Given the description of an element on the screen output the (x, y) to click on. 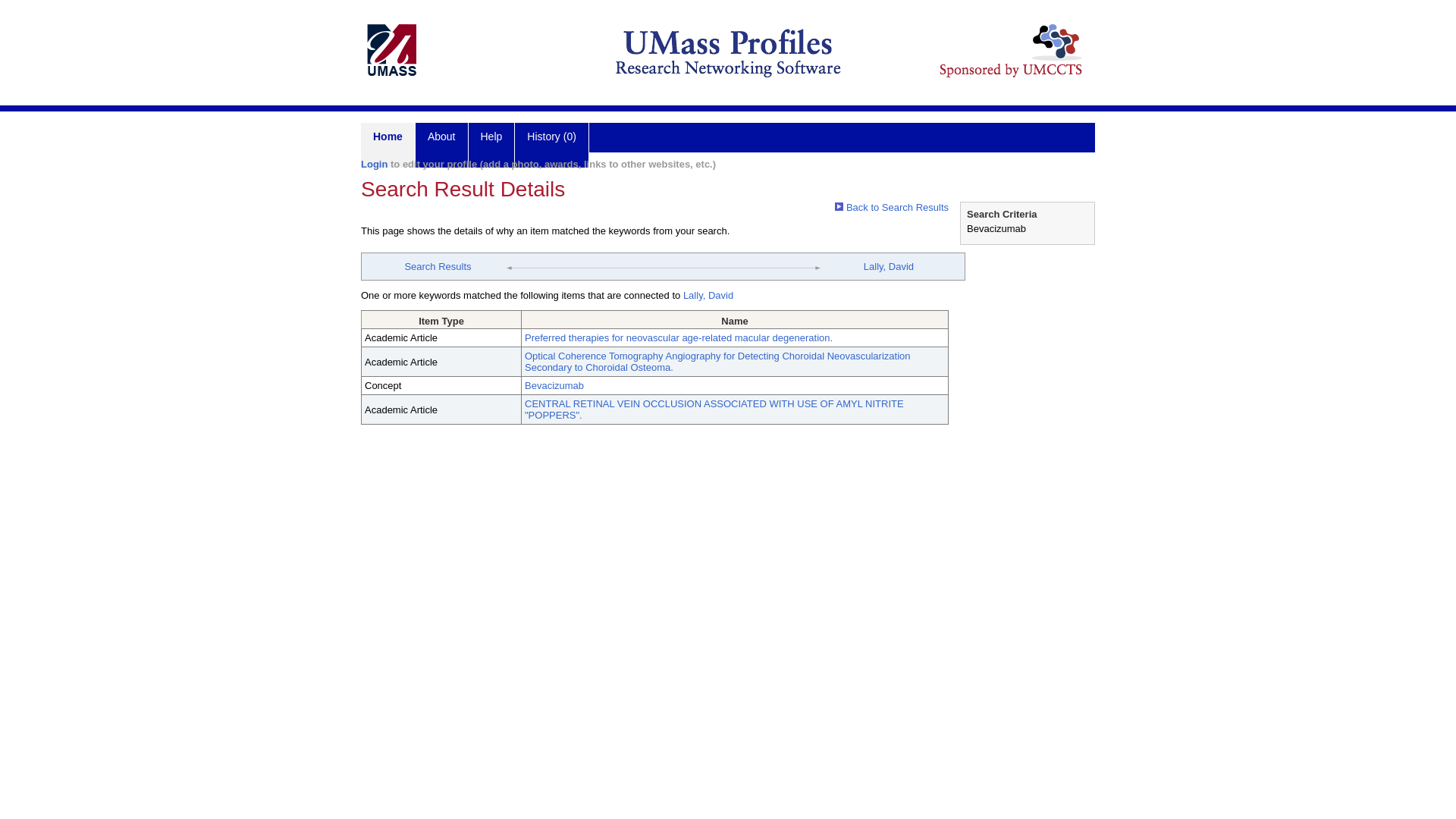
Search Results (437, 266)
About (441, 144)
Back to Search Results (891, 206)
Help (491, 144)
Lally, David (888, 266)
Lally, David (707, 295)
Login (374, 163)
Home (387, 144)
Bevacizumab (553, 385)
